Given the description of an element on the screen output the (x, y) to click on. 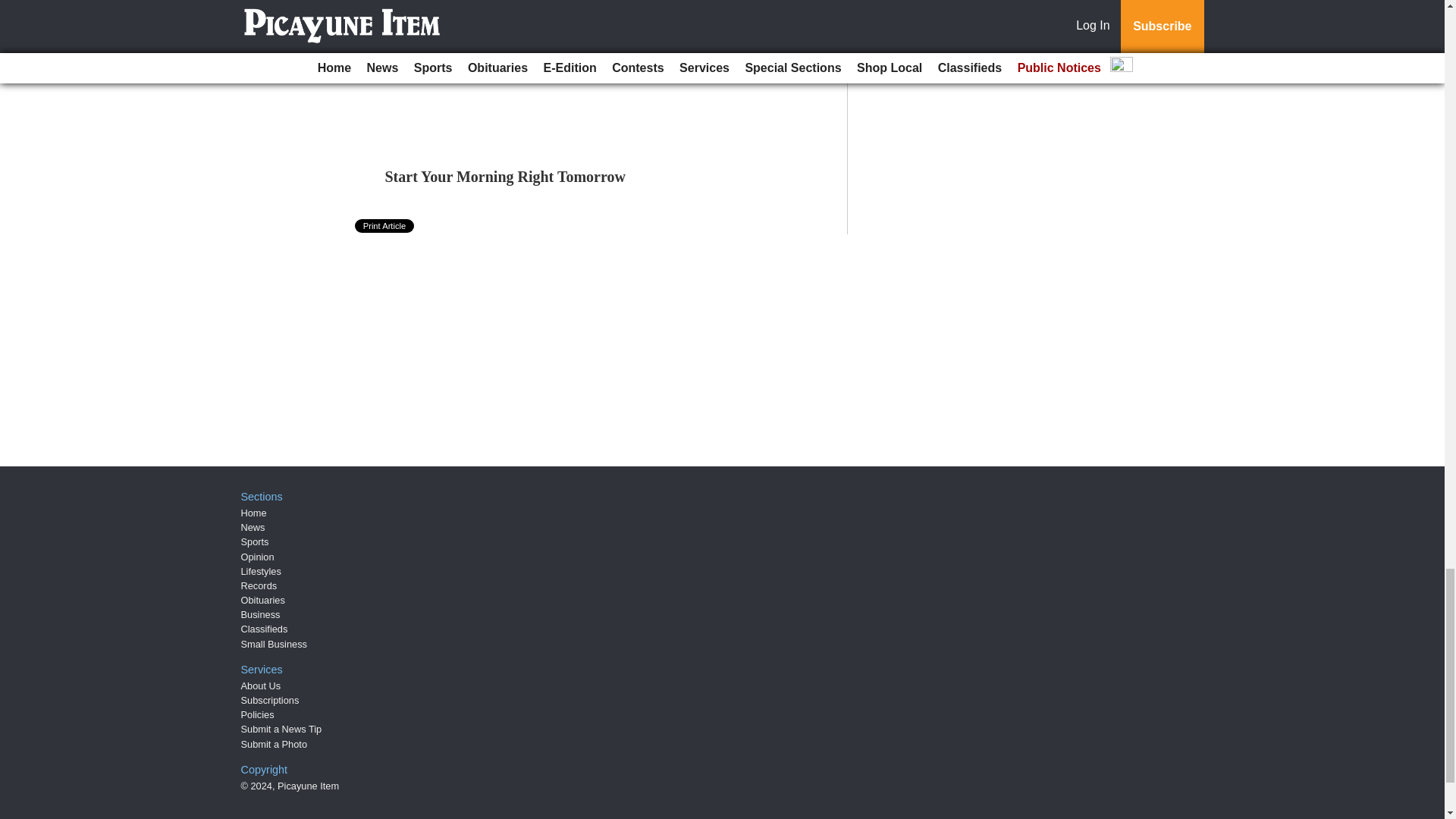
Start Your Morning Right Tomorrow (505, 176)
Start Your Morning Right Tomorrow (505, 176)
Print Article (384, 225)
